Given the description of an element on the screen output the (x, y) to click on. 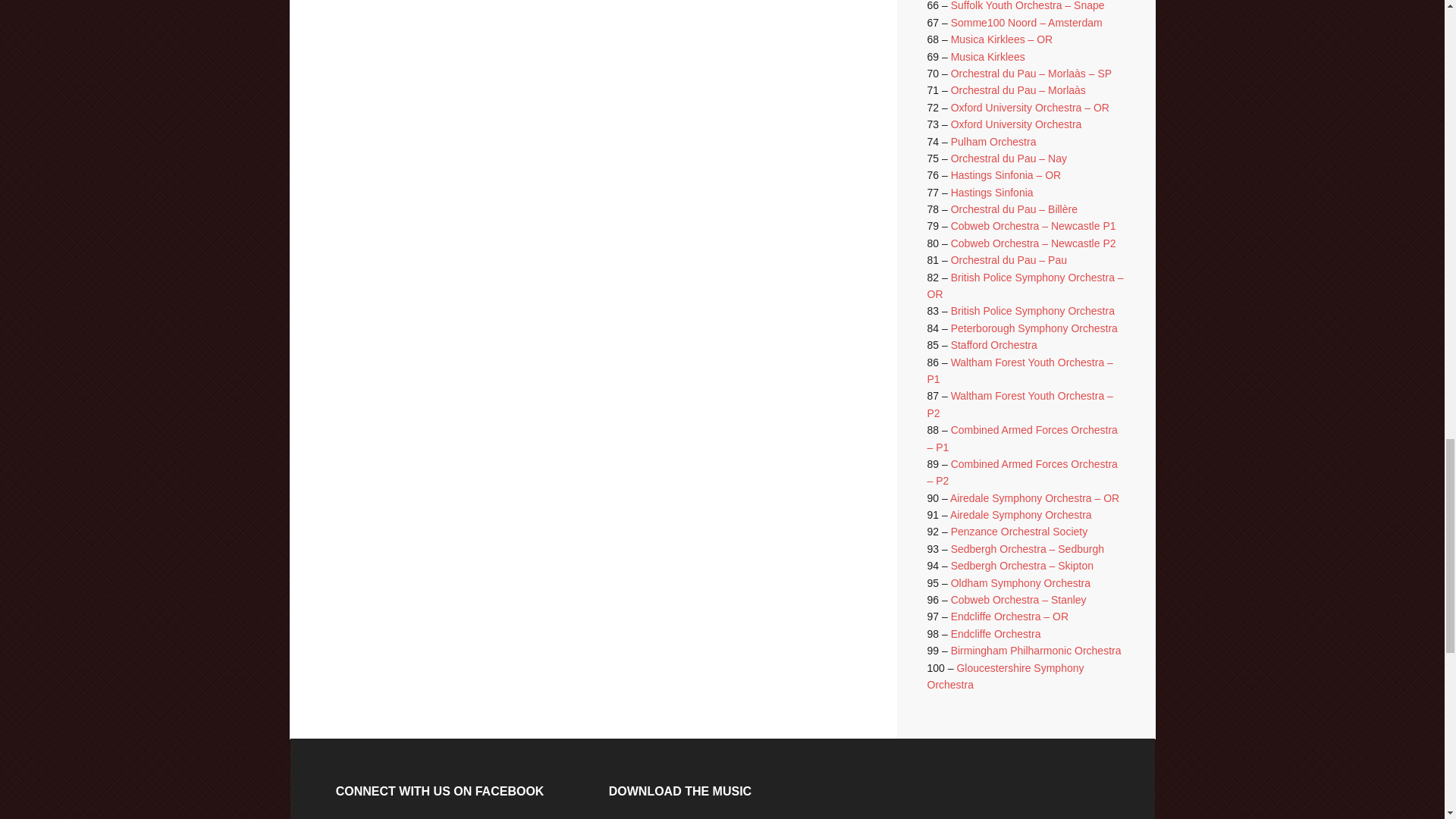
somme dublin flyer (599, 49)
Somme Dublin 19.11.18 (439, 49)
